Given the description of an element on the screen output the (x, y) to click on. 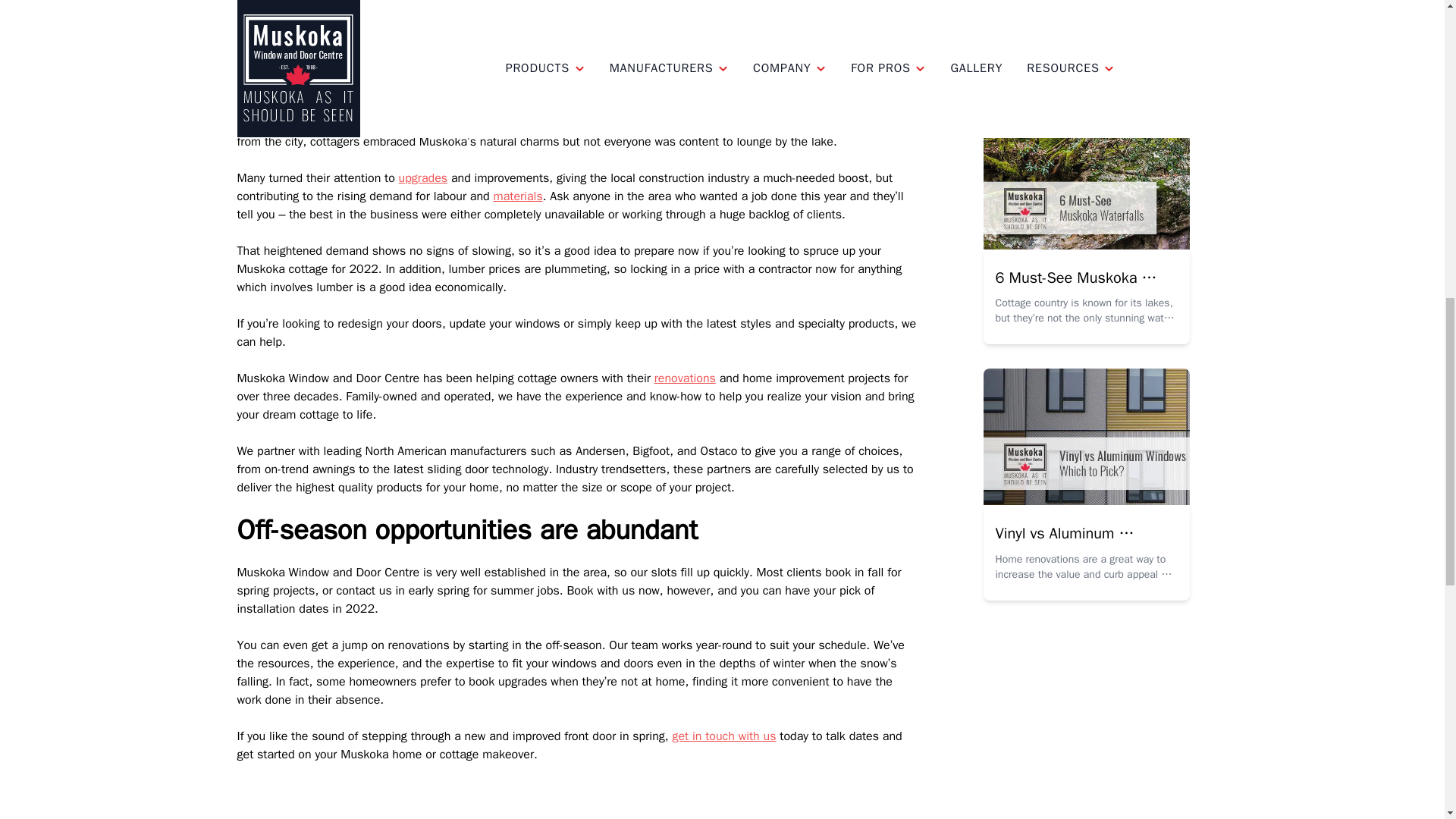
See you at the Spring Cottage Life Show! (1075, 32)
6 Must-See Muskoka Waterfalls (1075, 288)
upgrades (423, 177)
get in touch with us (723, 735)
renovations (684, 378)
materials (518, 196)
